Given the description of an element on the screen output the (x, y) to click on. 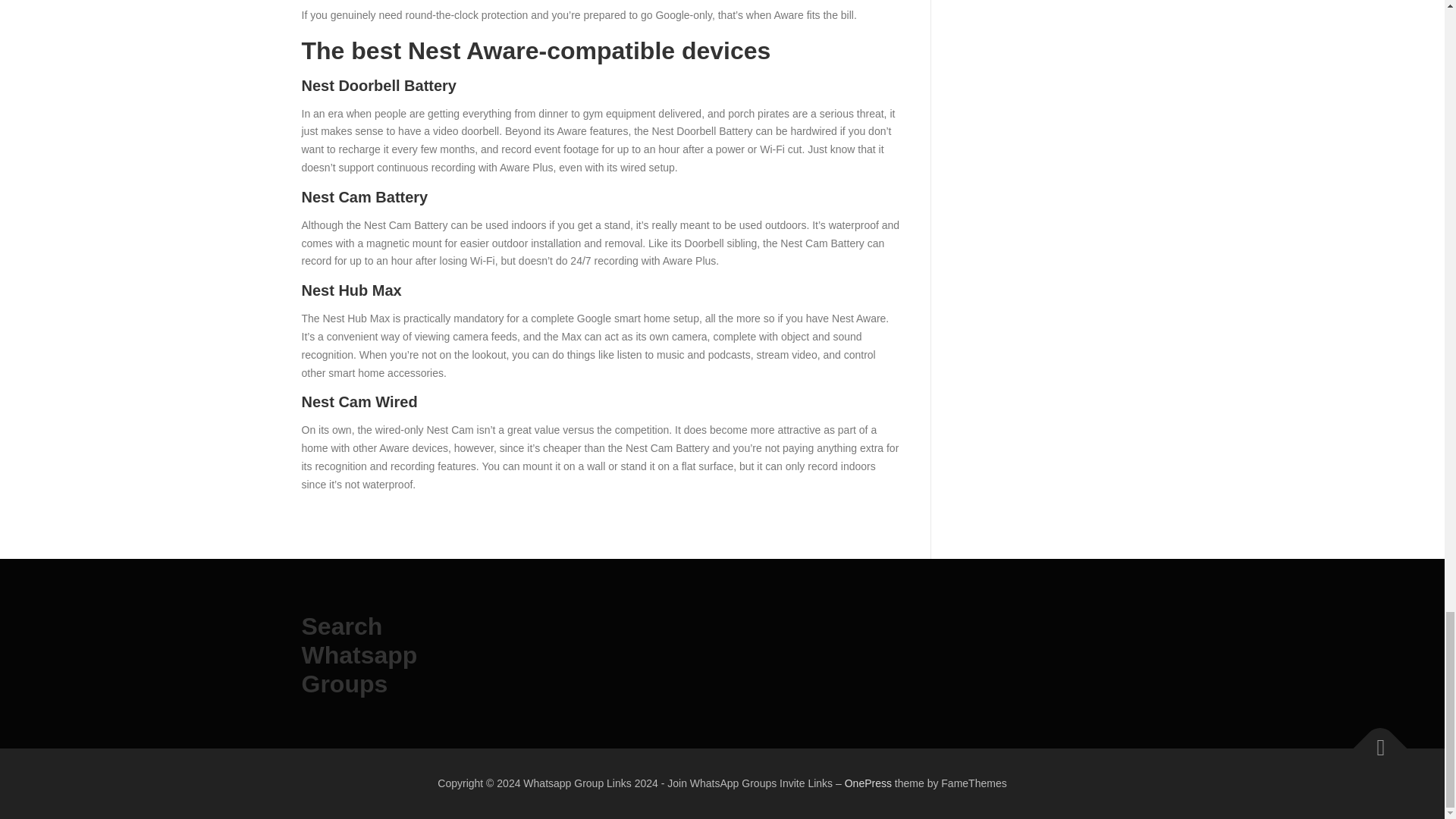
Back To Top (1372, 740)
